Given the description of an element on the screen output the (x, y) to click on. 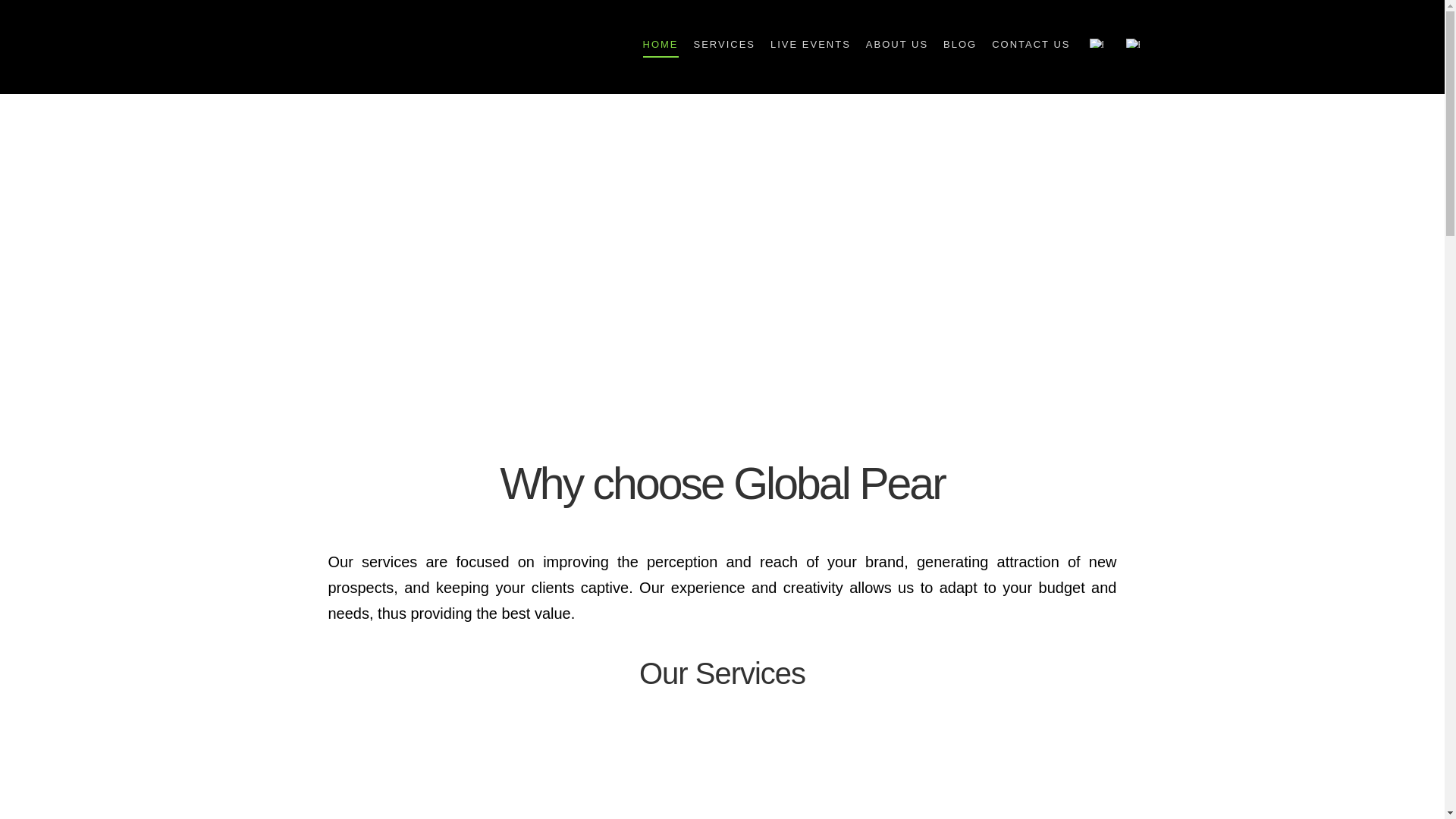
ABOUT US (897, 43)
Global Pear (369, 47)
CONTACT US (1030, 43)
HOME (659, 43)
BLOG (960, 43)
LIVE EVENTS (810, 43)
SERVICES (723, 43)
Spanish (1131, 42)
English (1095, 42)
